Given the description of an element on the screen output the (x, y) to click on. 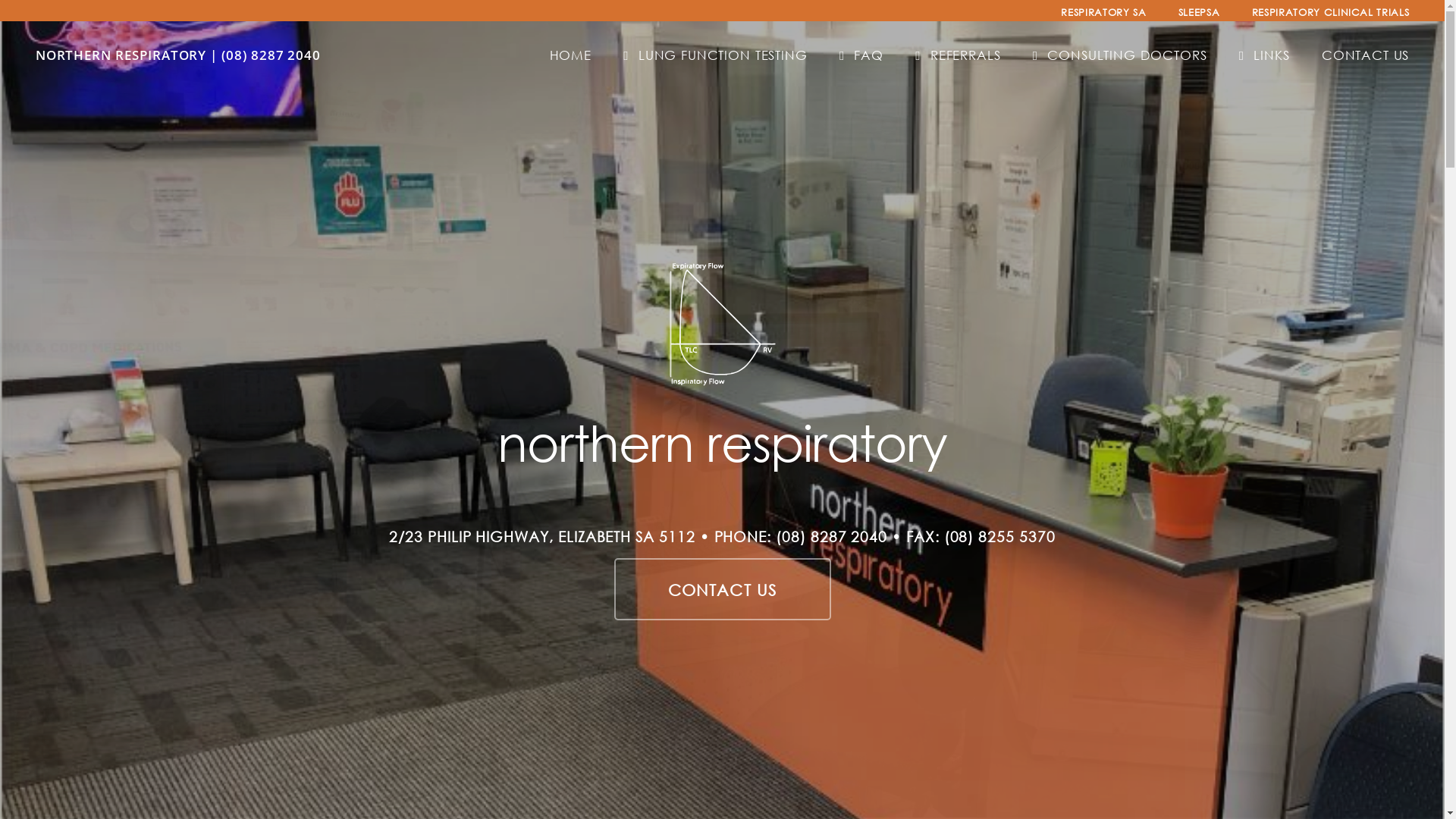
RESPIRATORY CLINICAL TRIALS Element type: text (1330, 12)
REFERRALS Element type: text (957, 54)
LUNG FUNCTION TESTING Element type: text (714, 54)
CONSULTING DOCTORS Element type: text (1119, 54)
LINKS Element type: text (1264, 54)
CONTACT US Element type: text (722, 589)
CONTACT US Element type: text (1364, 54)
RESPIRATORY SA Element type: text (1102, 12)
SLEEPSA Element type: text (1199, 12)
NORTHERN RESPIRATORY | (08) 8287 2040 Element type: text (178, 54)
HOME Element type: text (570, 54)
FAQ Element type: text (861, 54)
